Given the description of an element on the screen output the (x, y) to click on. 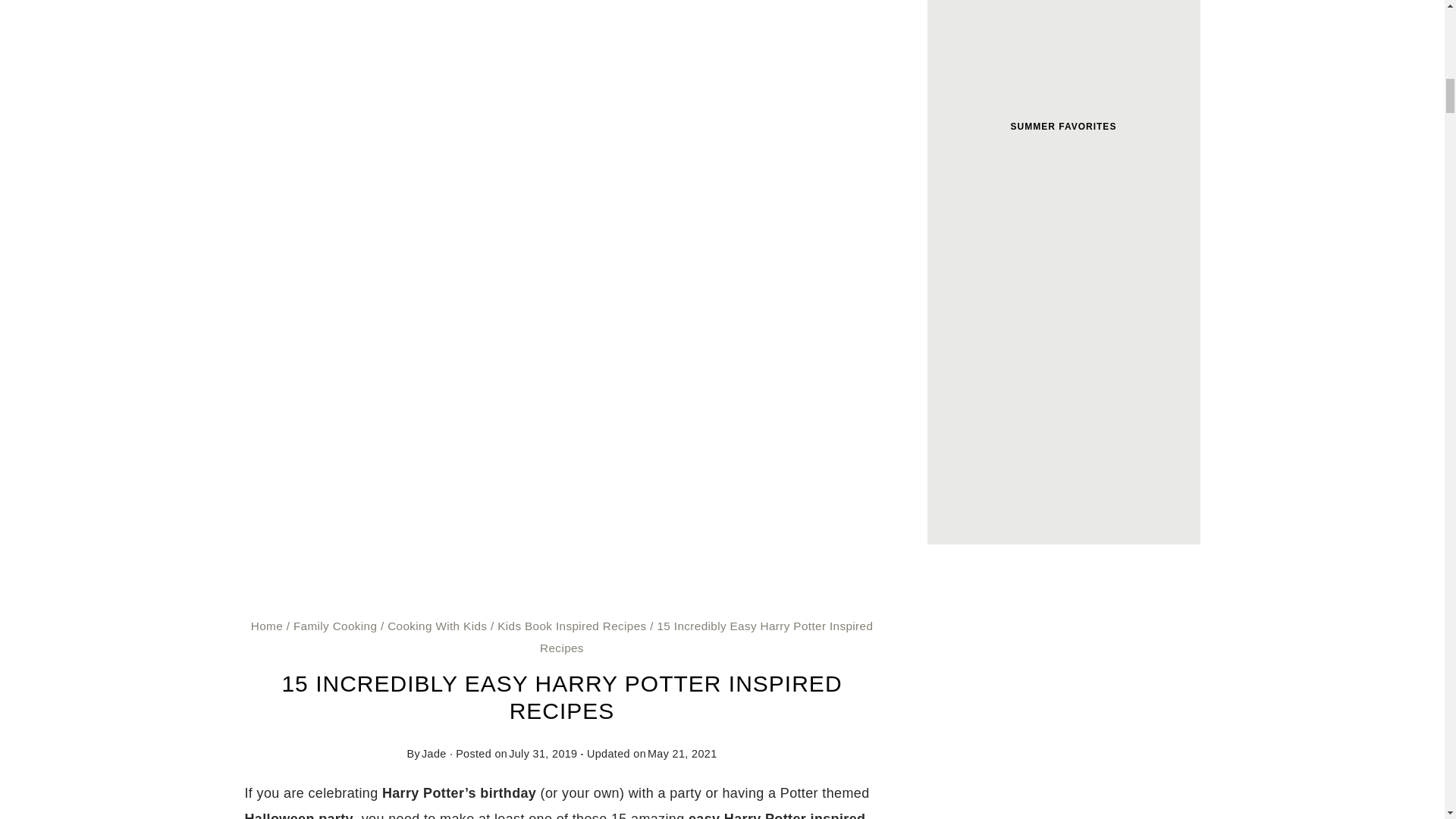
Home (266, 625)
Family Cooking (335, 625)
Agua De Jamaica- HERO (1122, 440)
Kids Book Inspired Recipes (571, 625)
Cooking With Kids (436, 625)
Brazilian Lemonade- HERO 2 (1005, 440)
